Given the description of an element on the screen output the (x, y) to click on. 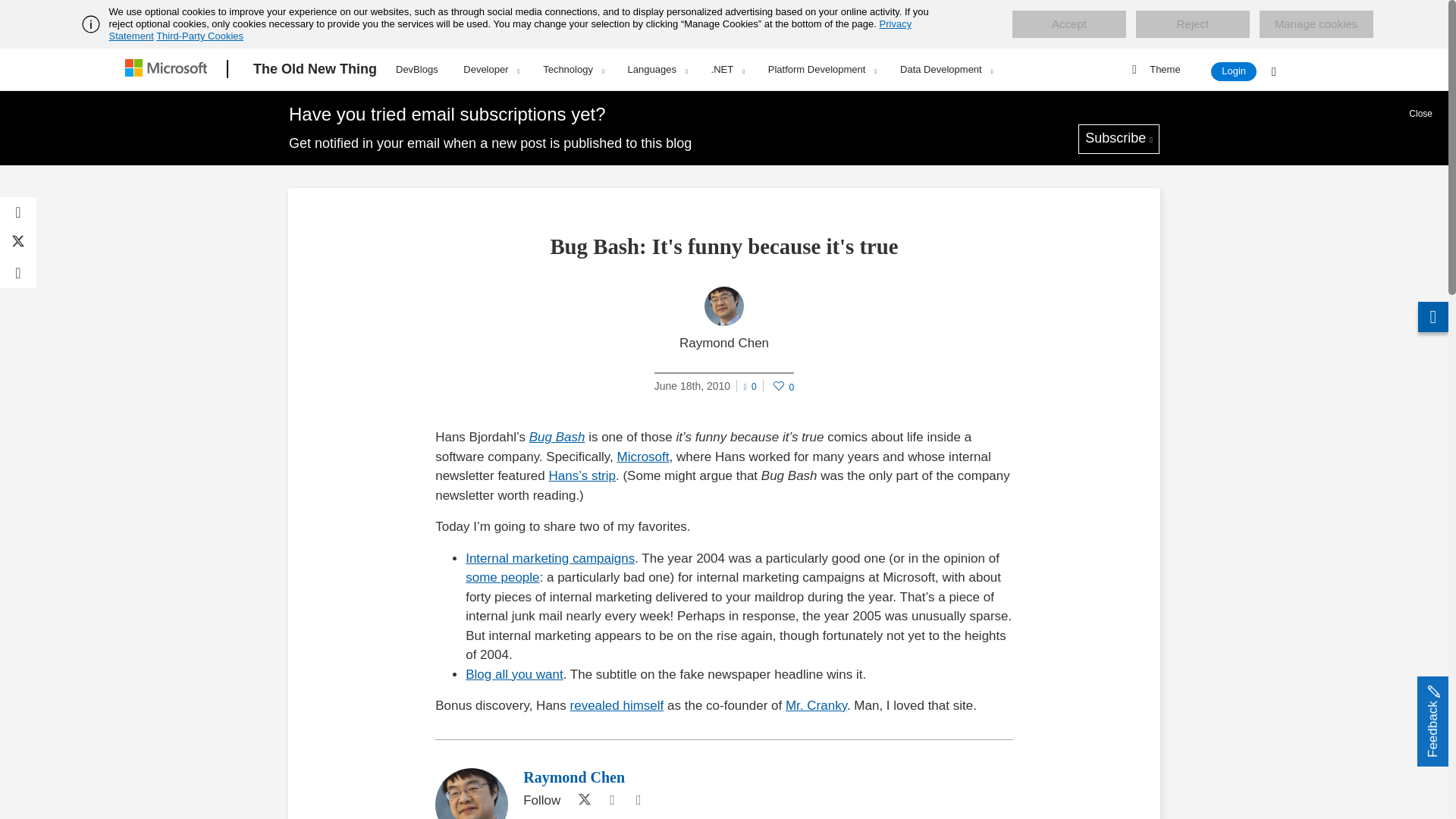
Reject (1192, 23)
Third-Party Cookies (199, 35)
DevBlogs (416, 67)
Twitter (581, 800)
Github (611, 800)
Share on Twitter (18, 242)
Languages (657, 69)
Manage cookies (1316, 23)
The Old New Thing (315, 69)
RSS Feed (637, 800)
